Given the description of an element on the screen output the (x, y) to click on. 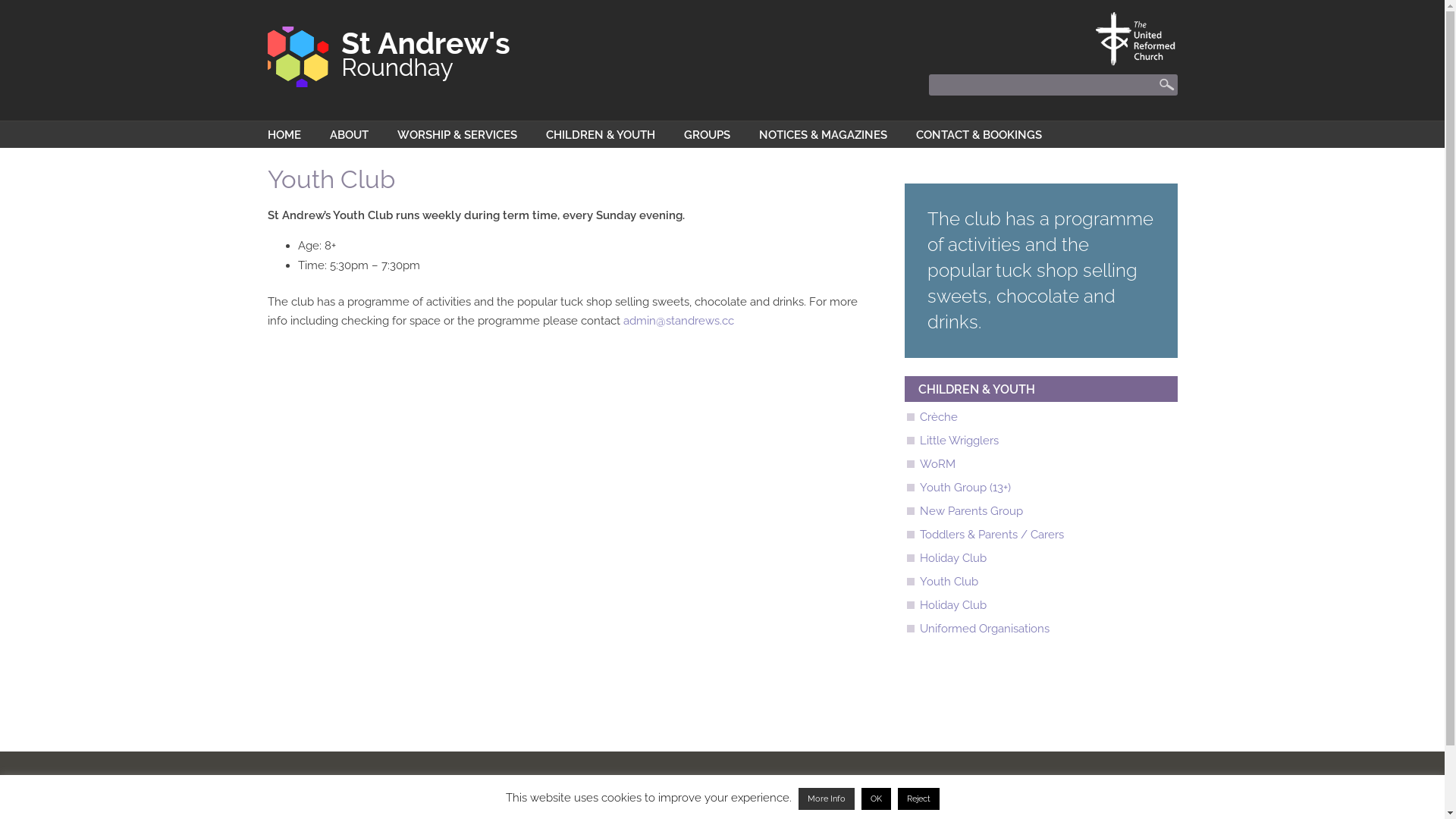
More Info Element type: text (825, 798)
Little Wrigglers Element type: text (958, 440)
New Parents Group Element type: text (970, 510)
HOME Element type: text (283, 135)
NOTICES & MAGAZINES Element type: text (822, 135)
Holiday Club Element type: text (952, 557)
OK Element type: text (876, 798)
Youth Group (13+) Element type: text (964, 487)
Uniformed Organisations Element type: text (983, 628)
GROUPS Element type: text (707, 135)
WoRM Element type: text (936, 463)
ABOUT Element type: text (348, 135)
admin@standrews.cc Element type: text (678, 320)
Reject Element type: text (918, 798)
CONTACT & BOOKINGS Element type: text (978, 135)
Youth Club Element type: text (948, 581)
Toddlers & Parents / Carers Element type: text (991, 534)
WORSHIP & SERVICES Element type: text (457, 135)
Skip to content Element type: text (0, 0)
Holiday Club Element type: text (952, 604)
CHILDREN & YOUTH Element type: text (600, 135)
